Given the description of an element on the screen output the (x, y) to click on. 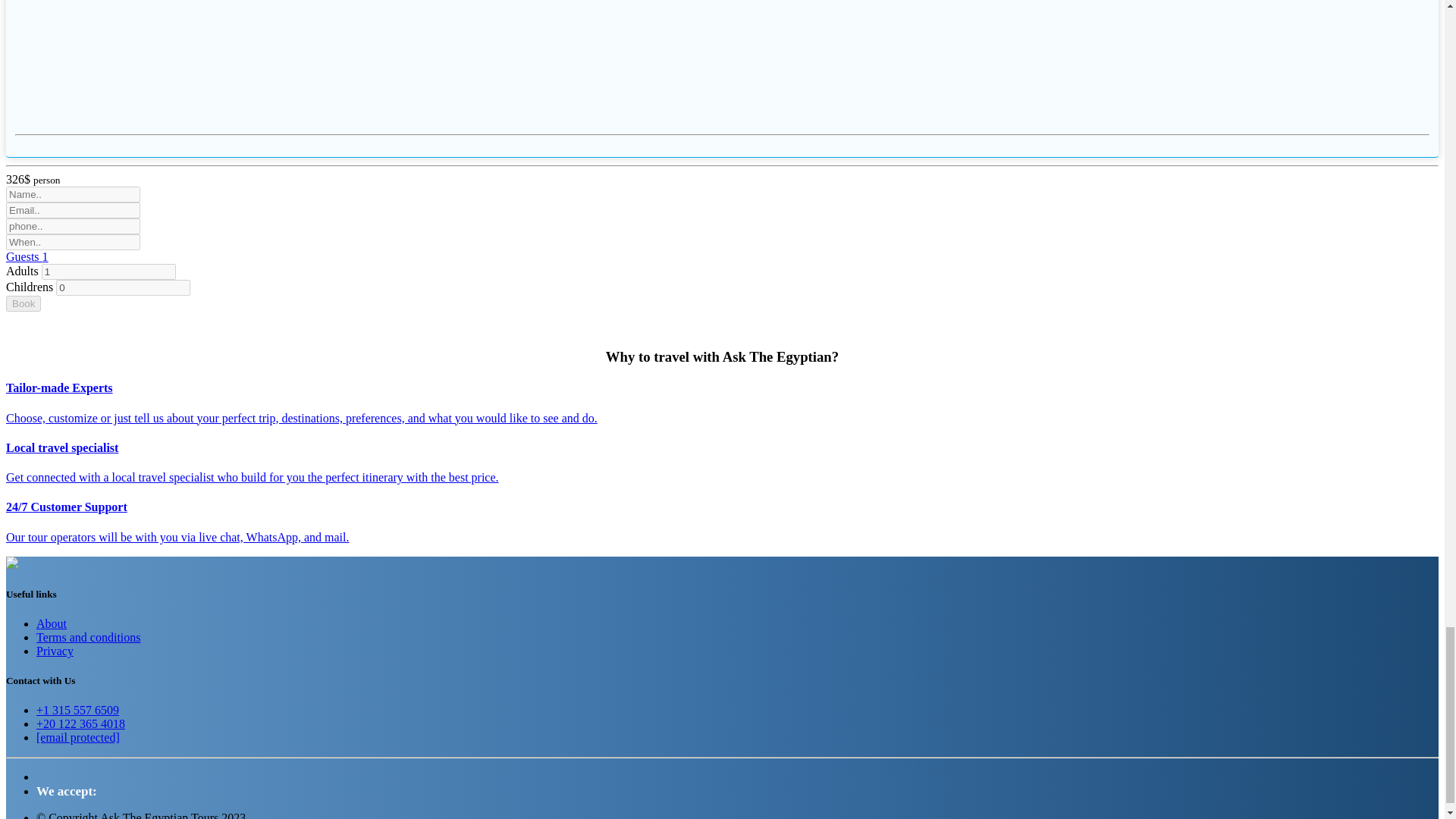
Guests 1 (26, 256)
Book (22, 303)
Privacy (55, 650)
0 (123, 287)
About (51, 623)
Book (22, 303)
1 (109, 271)
Terms and conditions (88, 636)
